Given the description of an element on the screen output the (x, y) to click on. 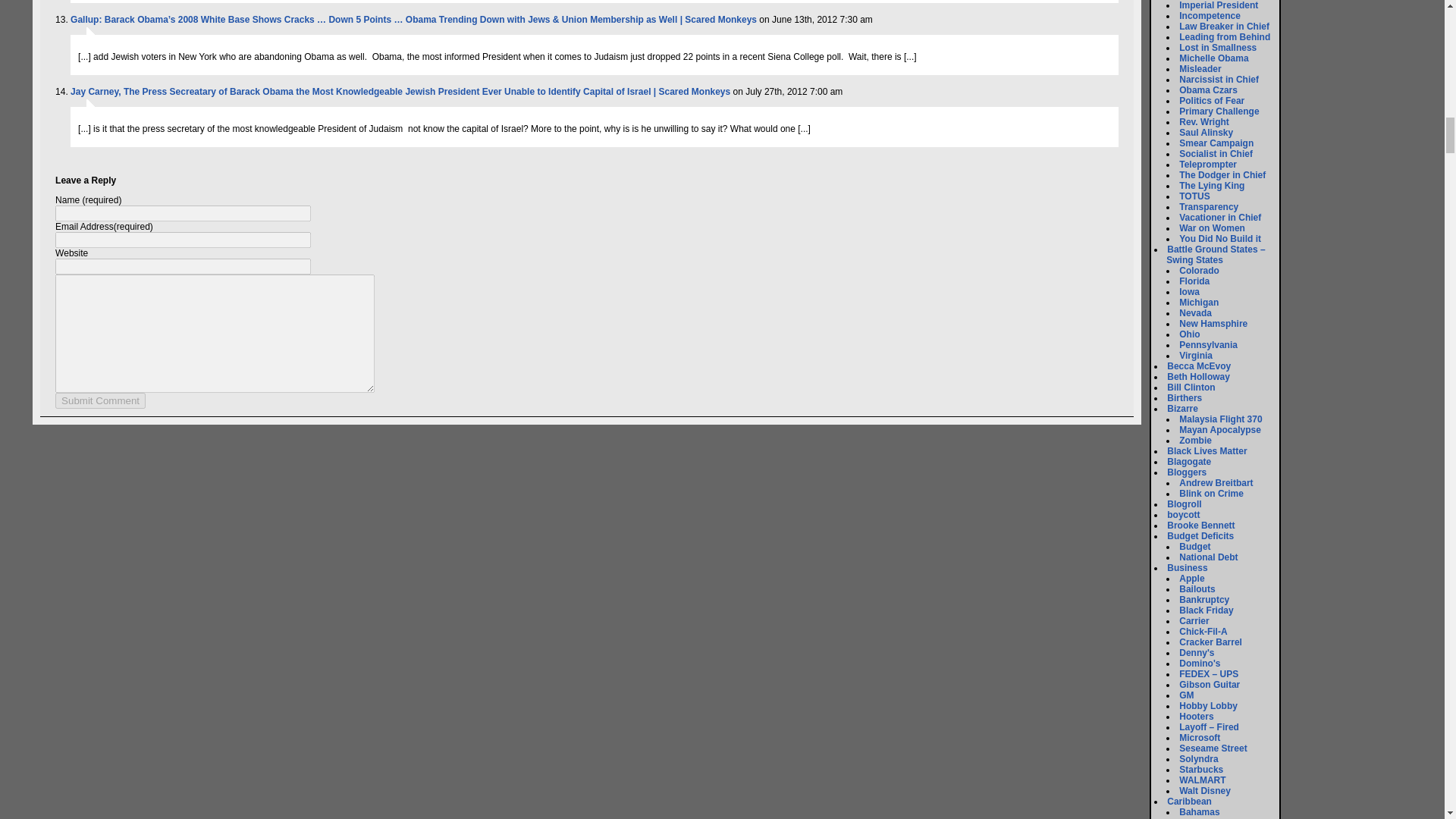
Submit Comment (100, 400)
Submit Comment (100, 400)
